Given the description of an element on the screen output the (x, y) to click on. 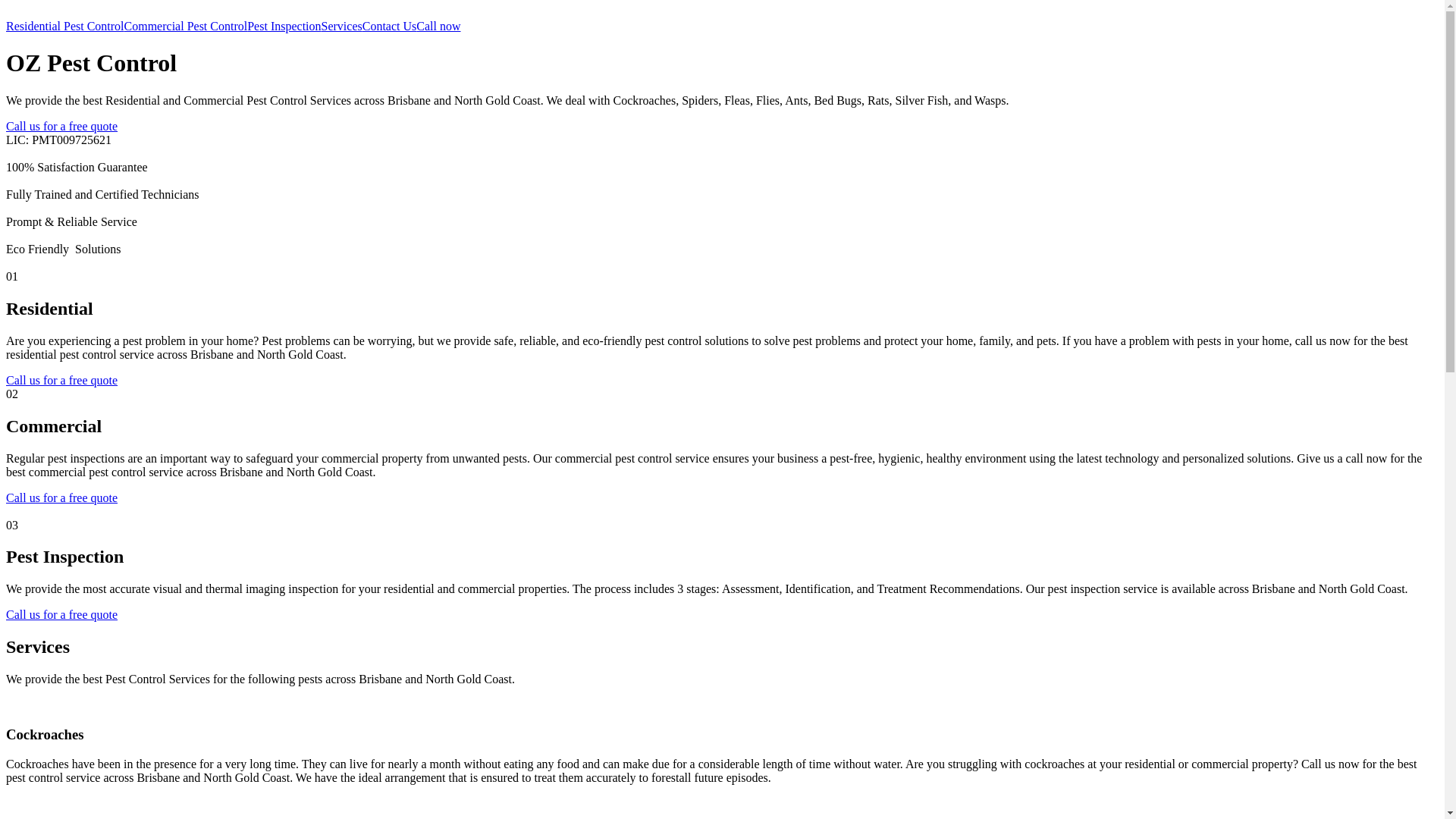
Contact Us Element type: text (389, 25)
Services Element type: text (341, 25)
Call us for a free quote Element type: text (61, 379)
Residential Pest Control Element type: text (65, 25)
Commercial Pest Control Element type: text (185, 25)
Call us for a free quote Element type: text (61, 125)
Call us for a free quote Element type: text (61, 614)
Pest Inspection Element type: text (283, 25)
Call now Element type: text (438, 25)
Call us for a free quote Element type: text (61, 497)
